Given the description of an element on the screen output the (x, y) to click on. 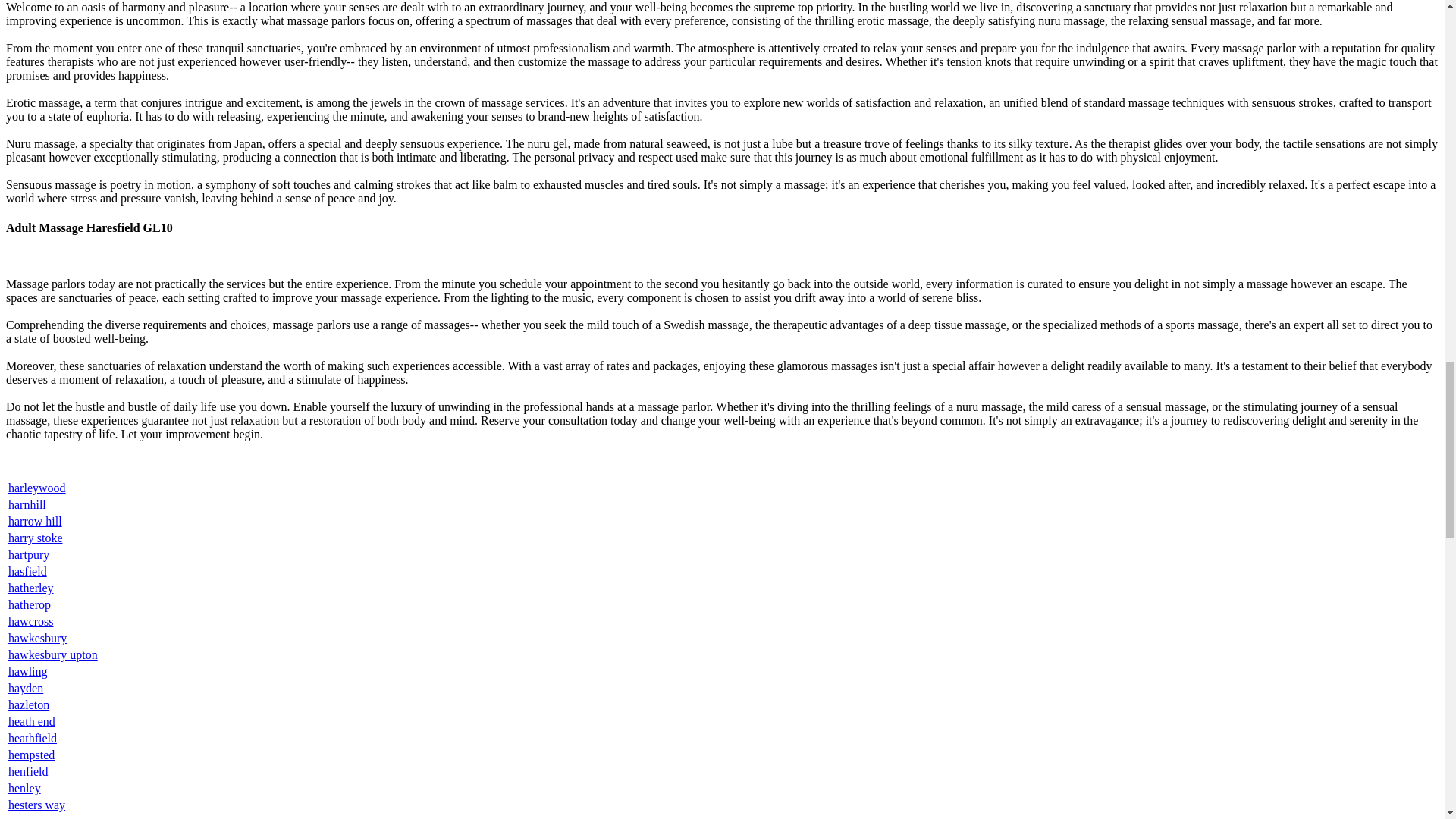
hawkesbury upton (52, 654)
harry stoke (35, 537)
hasfield (27, 571)
heath end (31, 721)
hartpury (28, 554)
hawling (28, 671)
hawcross (30, 621)
hawkesbury (37, 637)
henley (24, 788)
harleywood (36, 487)
